Given the description of an element on the screen output the (x, y) to click on. 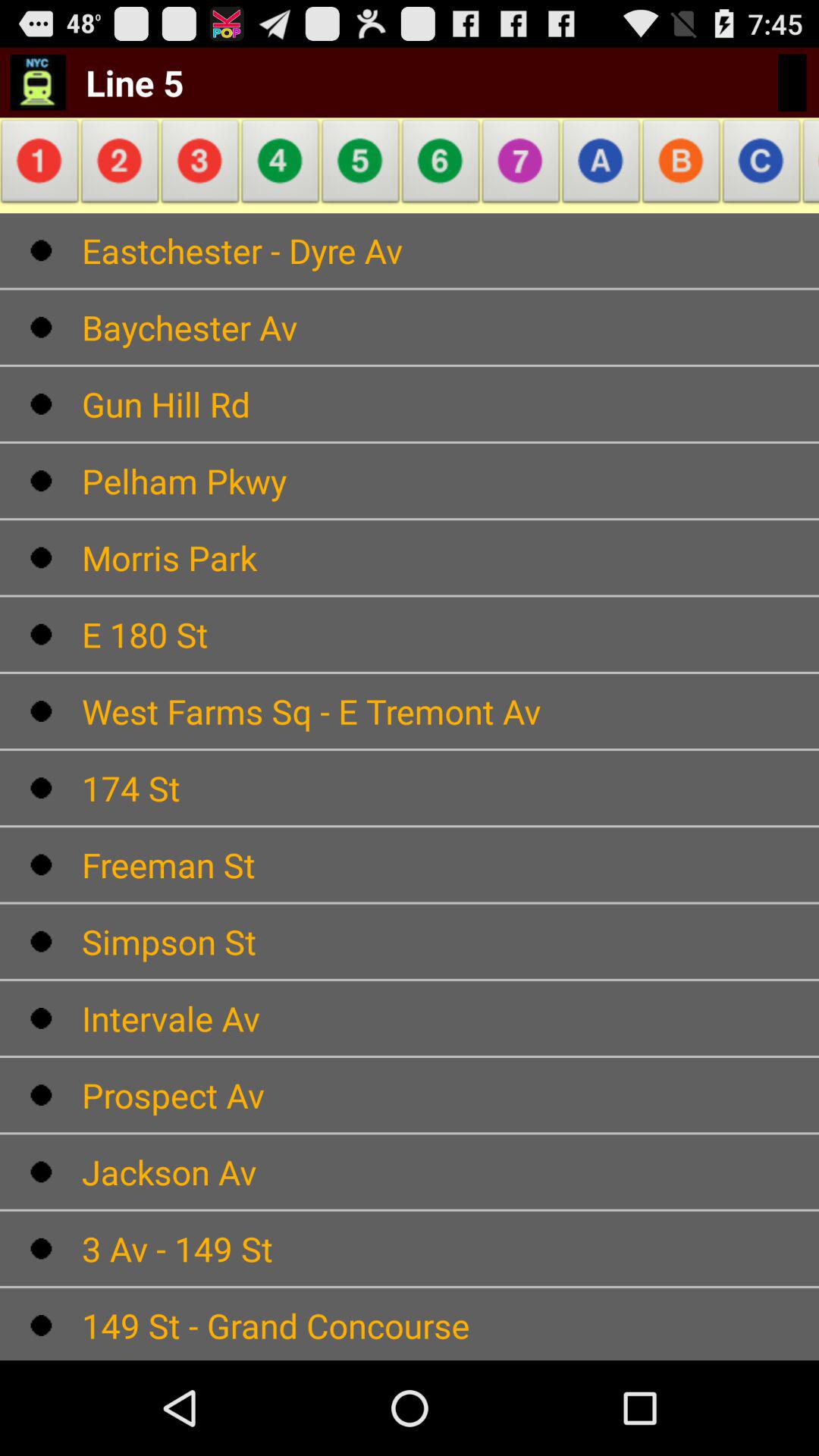
turn off the item above the eastchester - dyre av app (521, 165)
